Given the description of an element on the screen output the (x, y) to click on. 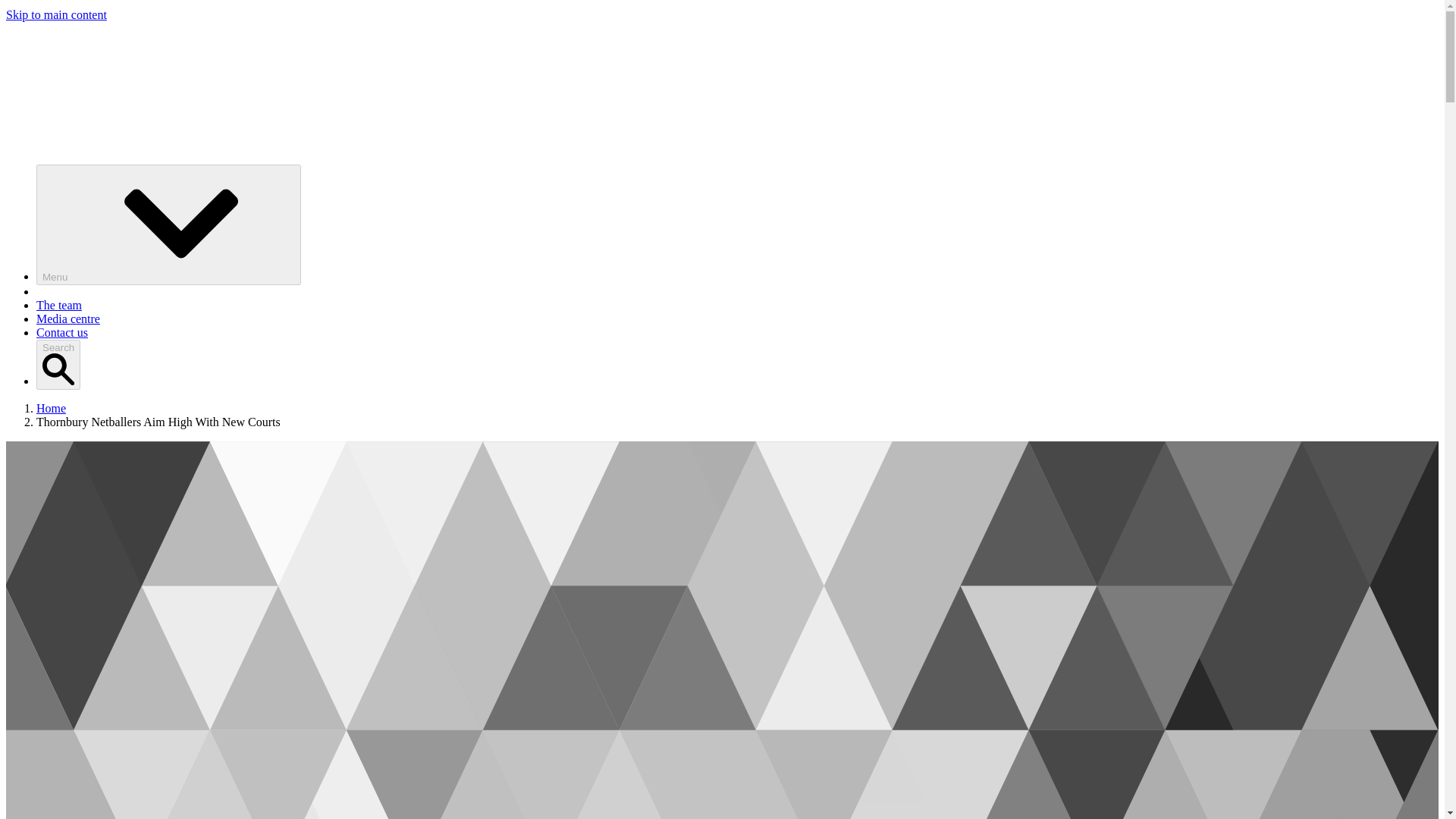
Home (50, 408)
The team (58, 305)
Contact us (61, 332)
Skip to main content (55, 14)
Media centre (68, 318)
